Given the description of an element on the screen output the (x, y) to click on. 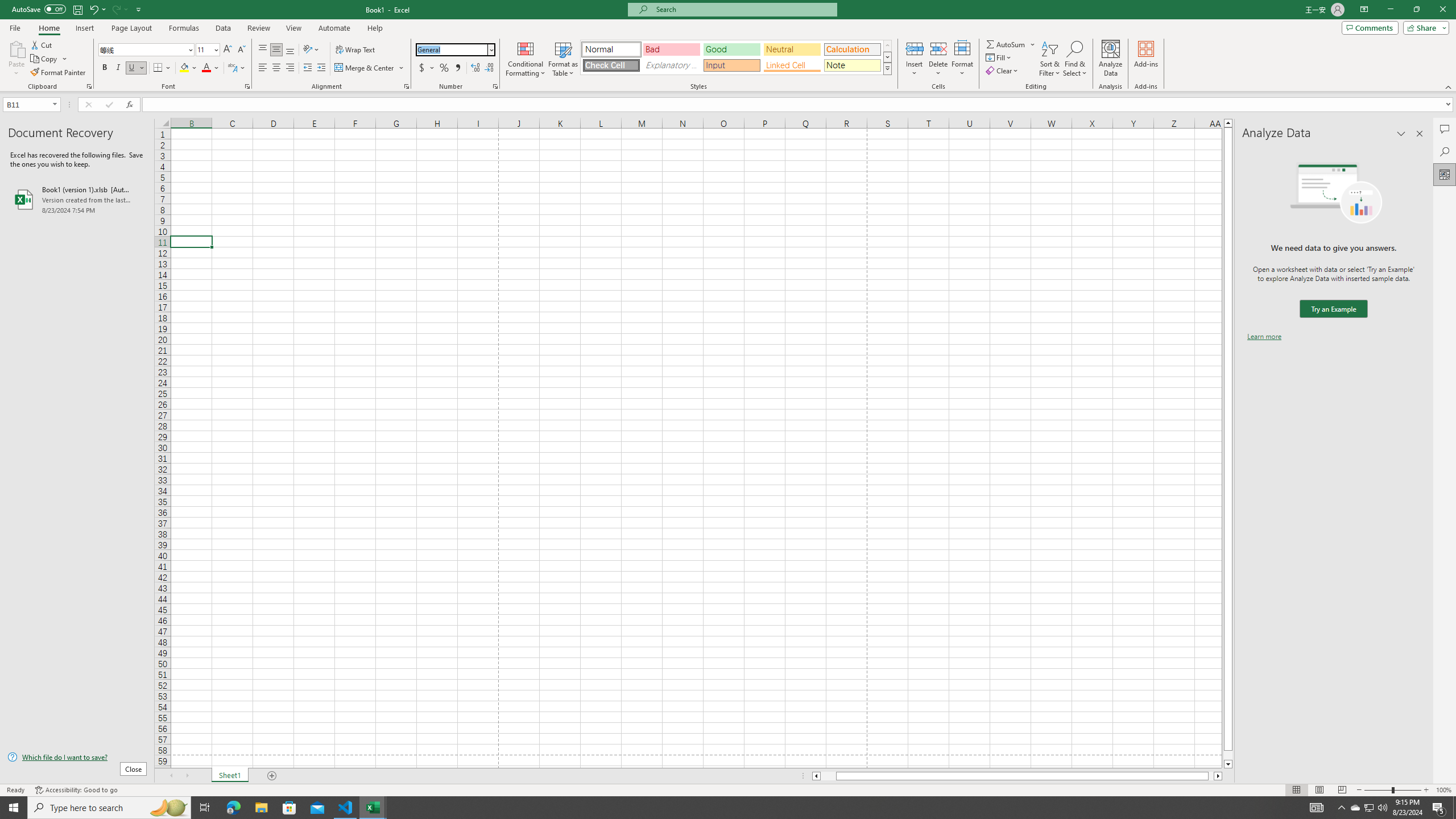
Underline (136, 67)
Delete Cells... (938, 48)
Bottom Align (290, 49)
Increase Indent (320, 67)
Format Painter (58, 72)
Accounting Number Format (426, 67)
Insert Cells (914, 48)
Font (147, 49)
Center (276, 67)
